Given the description of an element on the screen output the (x, y) to click on. 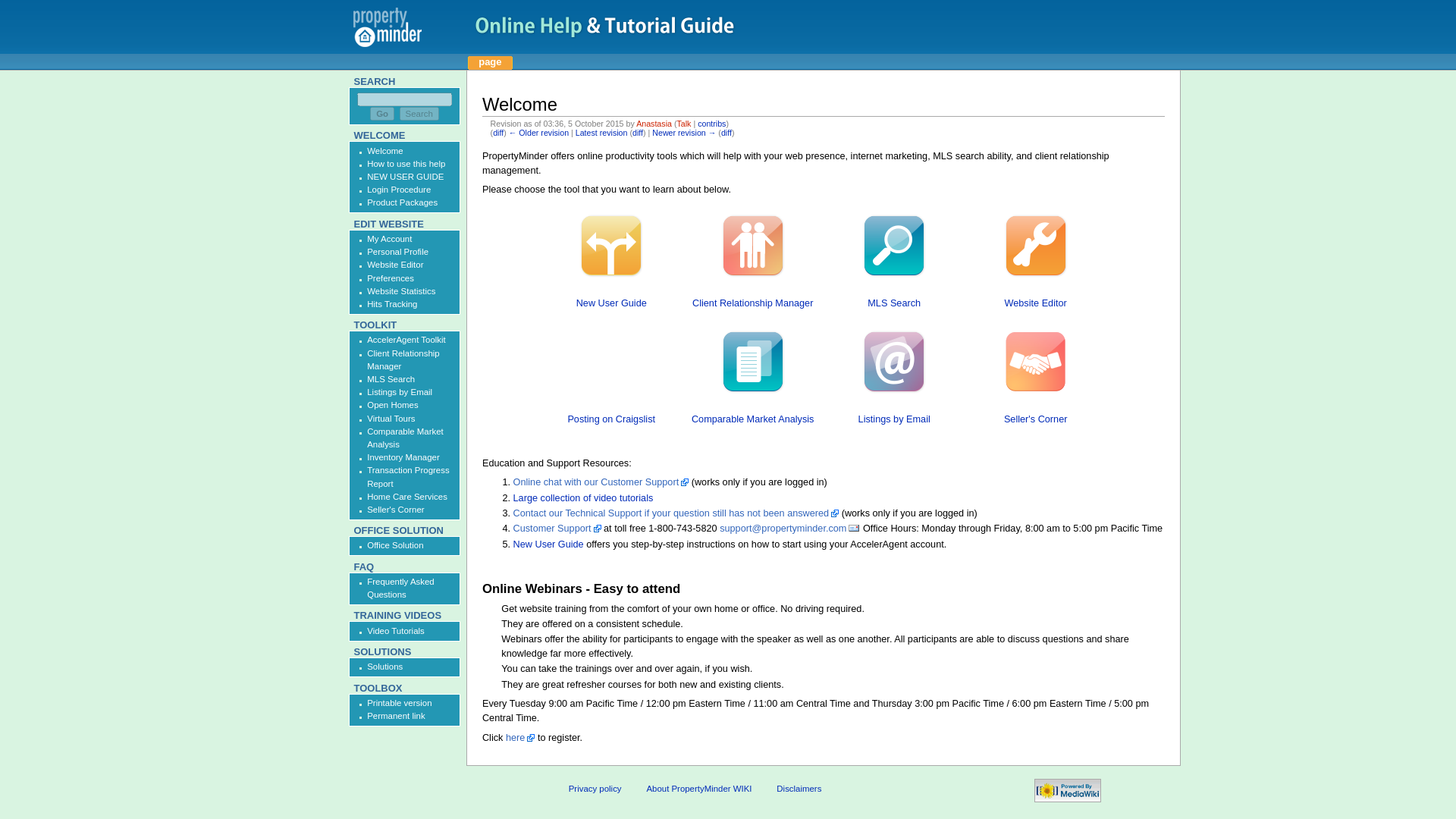
MLS Search (893, 303)
Search (418, 113)
Listings by Email (894, 419)
Latest revision (601, 132)
Large collection of video tutorials (583, 498)
Website Editor (1035, 303)
Seller's Corner (1035, 419)
Search (418, 113)
New User Guide (548, 543)
Welcome (601, 132)
Customer Support (557, 528)
Comparable Market Analysis (752, 419)
page (489, 62)
Anastasia (653, 122)
Welcome (538, 132)
